Given the description of an element on the screen output the (x, y) to click on. 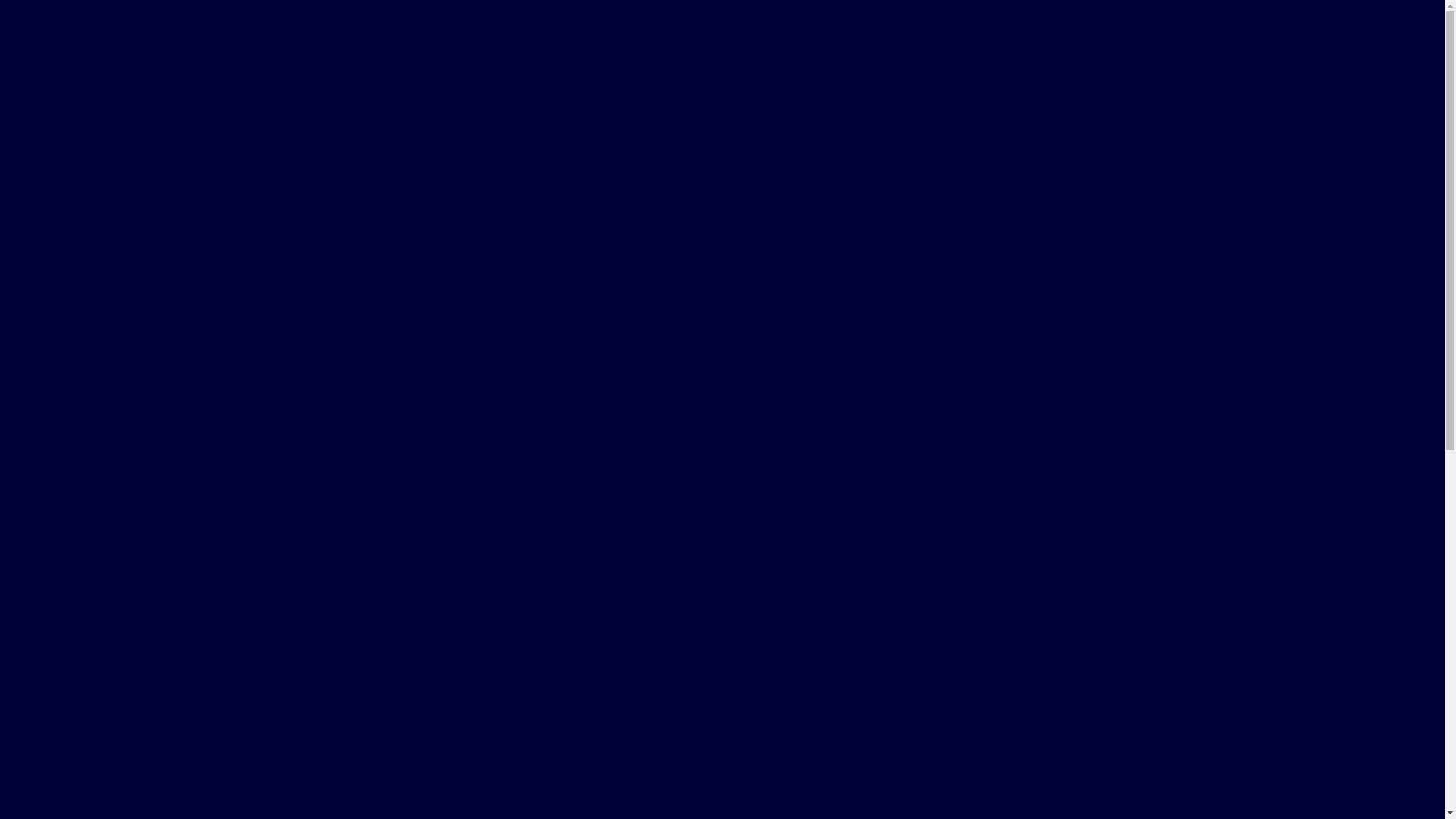
MAKE A RESERVATION Element type: text (722, 377)
GROUP BOOKING ENQUIRIES Element type: text (721, 746)
VIEW MENUS Element type: text (722, 446)
